Given the description of an element on the screen output the (x, y) to click on. 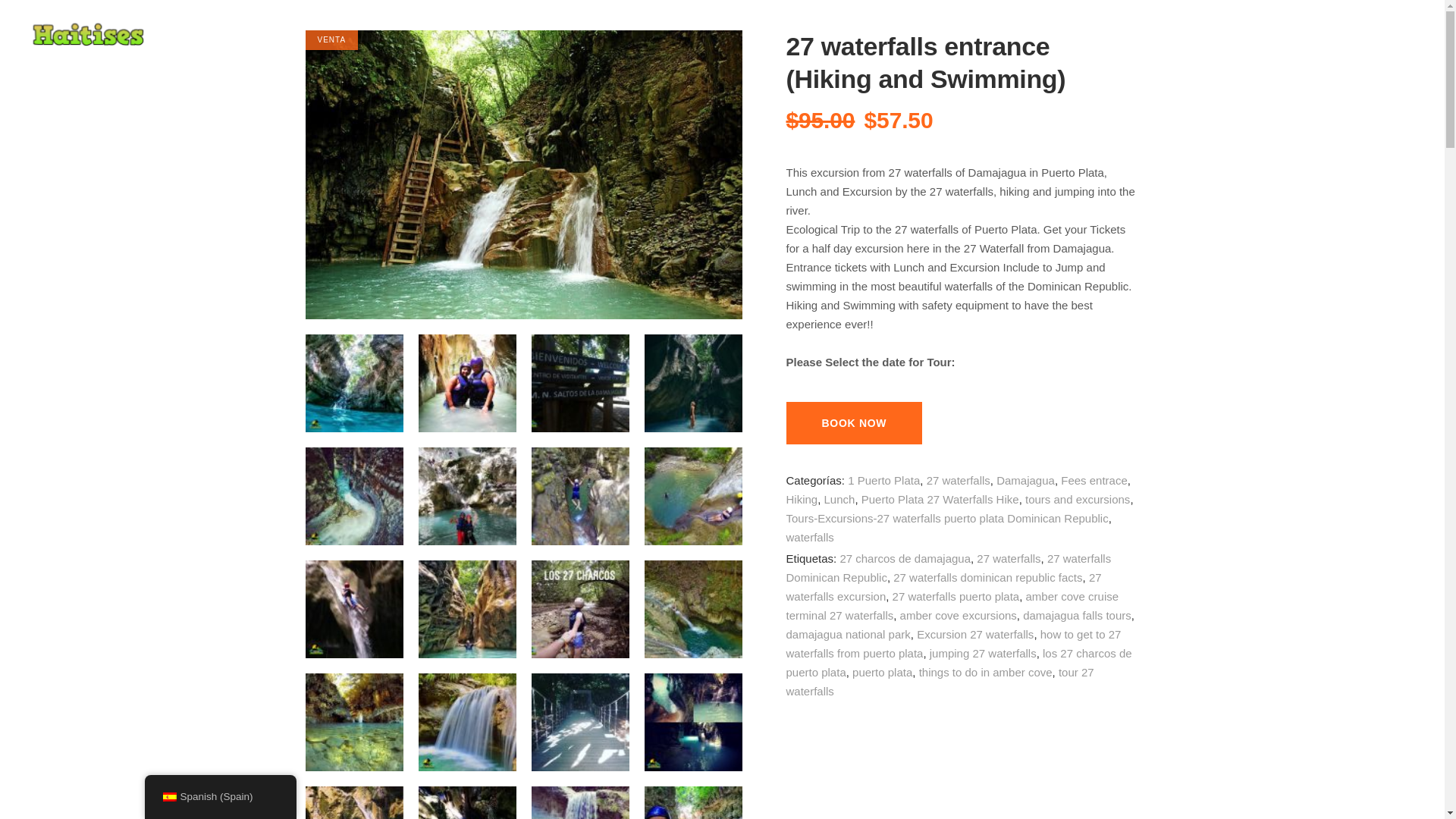
27-Waterfalls22.jpg (579, 722)
27 waterfalls (958, 480)
27-Waterfalls26.jpg (353, 802)
27-Waterfalls2.jpg (467, 383)
Fees entrace (1093, 480)
1 Puerto Plata (883, 480)
27-Waterfalls13.jpg (353, 609)
27-Waterfalls.jpg (353, 383)
27-Waterfalls7.jpg (353, 496)
27-Waterfalls18.jpg (693, 609)
Hiking (801, 499)
Lunch (840, 499)
27-Waterfalls16.jpg (579, 609)
27-Waterfalls5.jpg (693, 383)
